Given the description of an element on the screen output the (x, y) to click on. 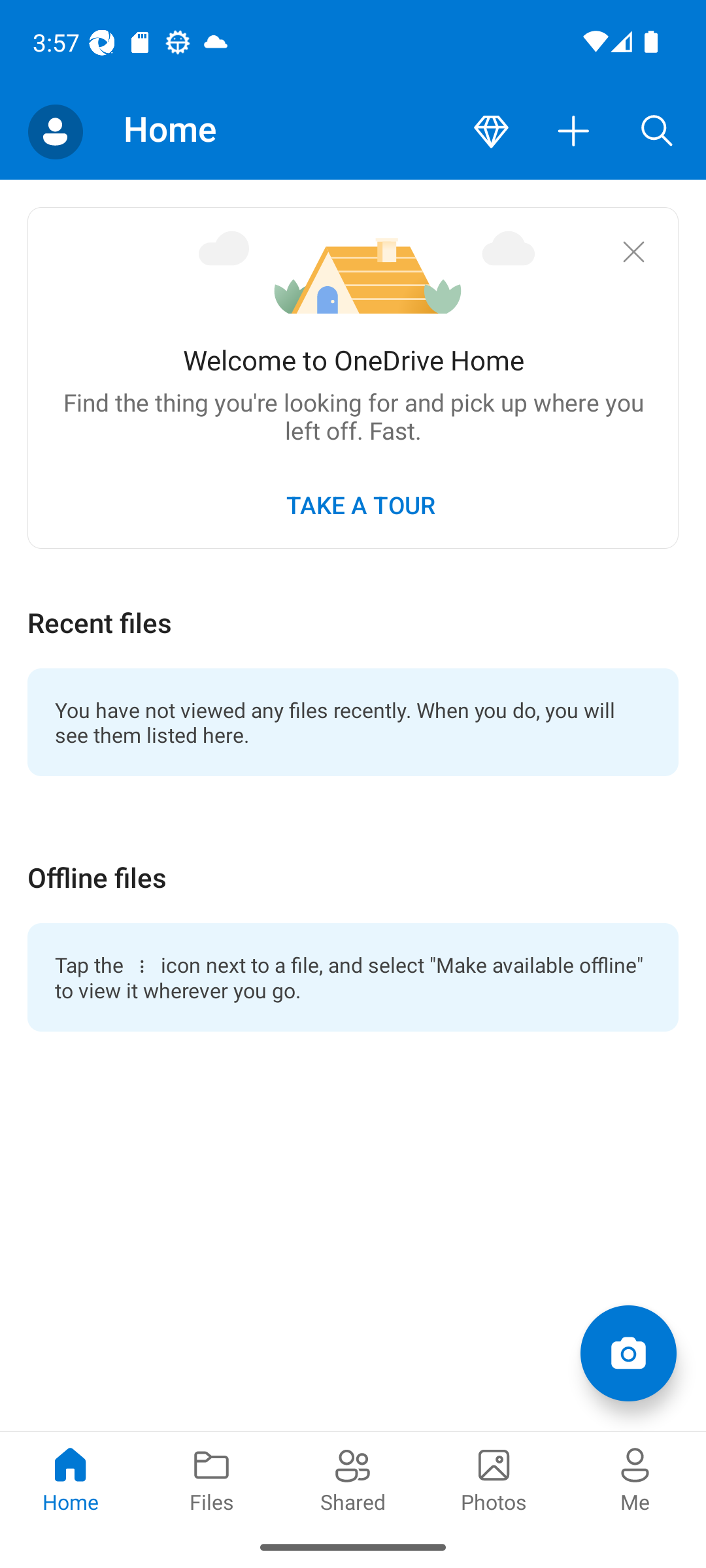
Account switcher (55, 131)
Premium button (491, 131)
More actions button (574, 131)
Search button (656, 131)
Close (633, 251)
TAKE A TOUR (359, 503)
Scan (628, 1352)
Files pivot Files (211, 1478)
Shared pivot Shared (352, 1478)
Photos pivot Photos (493, 1478)
Me pivot Me (635, 1478)
